Given the description of an element on the screen output the (x, y) to click on. 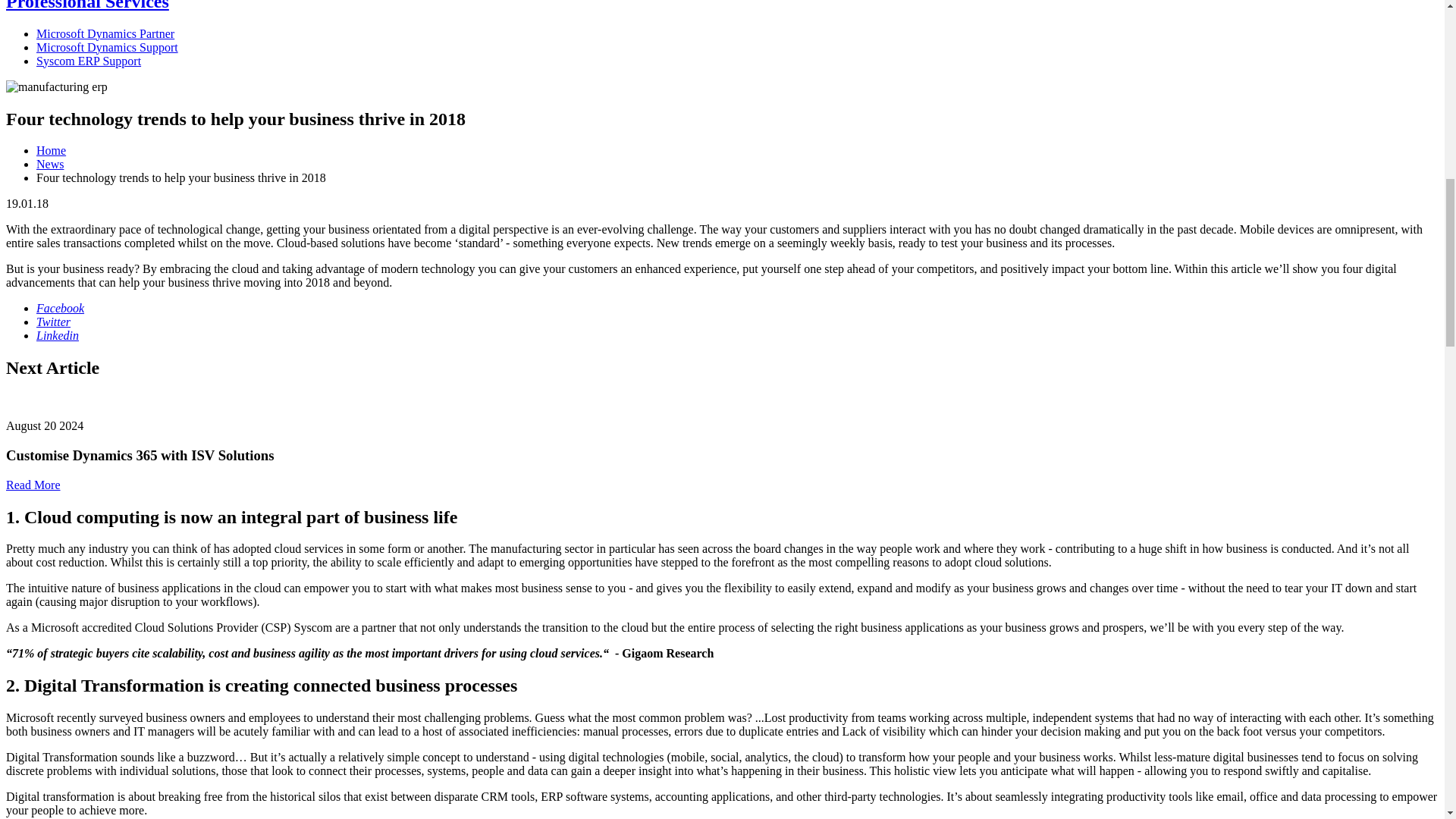
Microsoft Dynamics Support (106, 47)
Microsoft Dynamics Partner (105, 33)
Syscom ERP Support (88, 60)
Professional Services (86, 5)
